Given the description of an element on the screen output the (x, y) to click on. 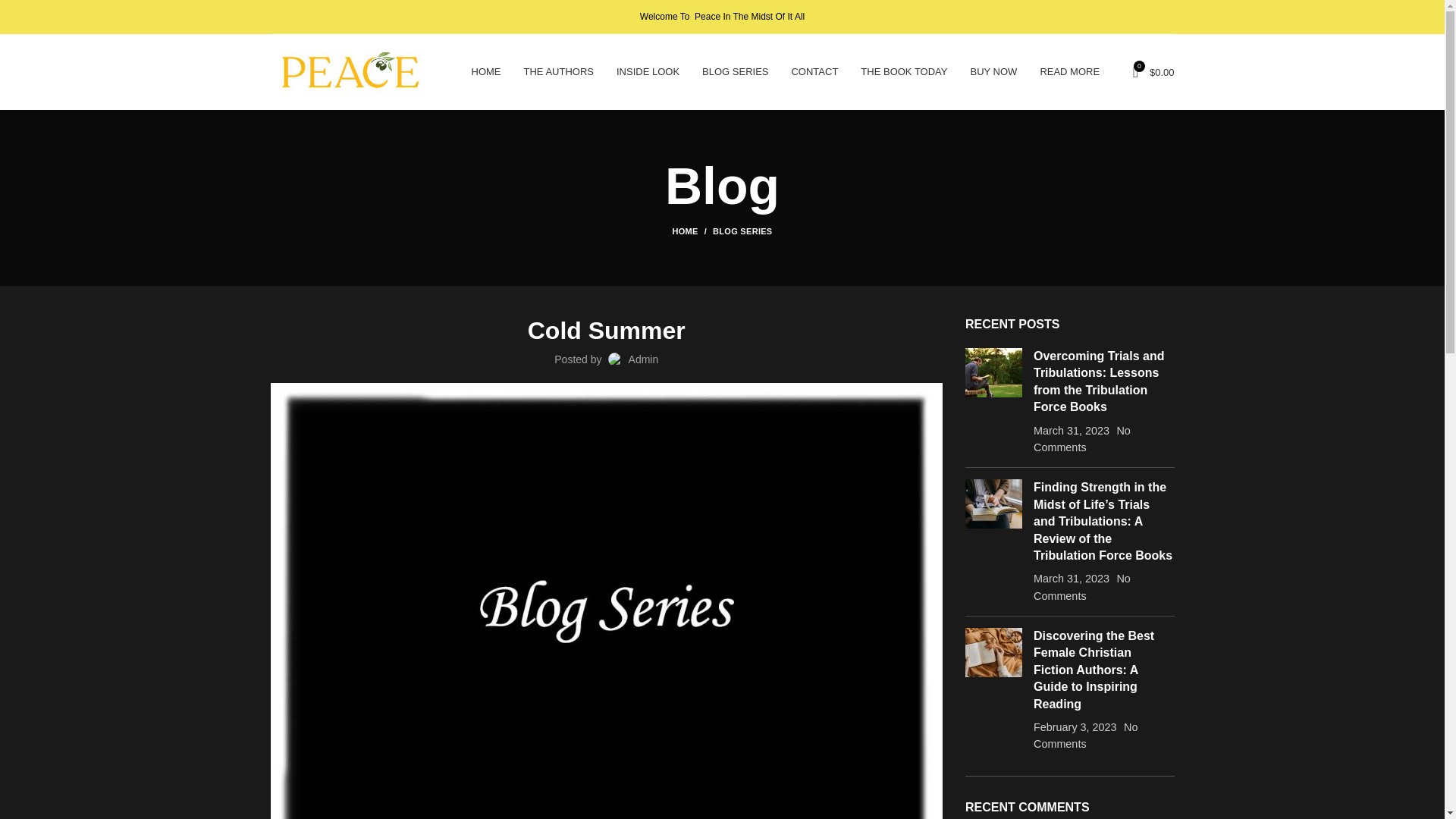
B1 (993, 503)
THE BOOK TODAY (903, 71)
No Comments (1082, 439)
INSIDE LOOK (647, 71)
READ MORE (1071, 71)
THE AUTHORS (558, 71)
B2 (993, 372)
No Comments (1085, 735)
